Given the description of an element on the screen output the (x, y) to click on. 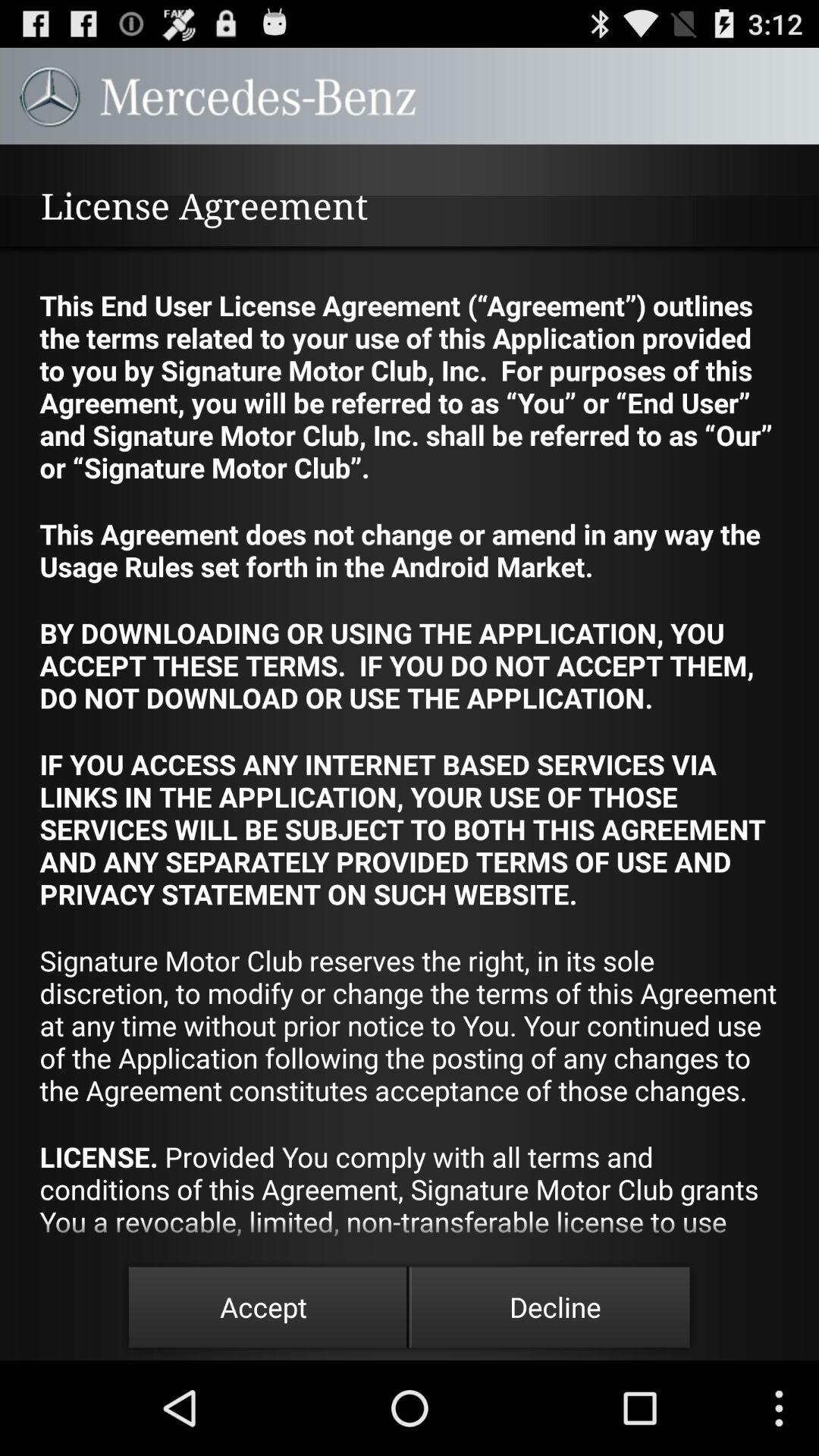
jump to decline item (554, 1306)
